Given the description of an element on the screen output the (x, y) to click on. 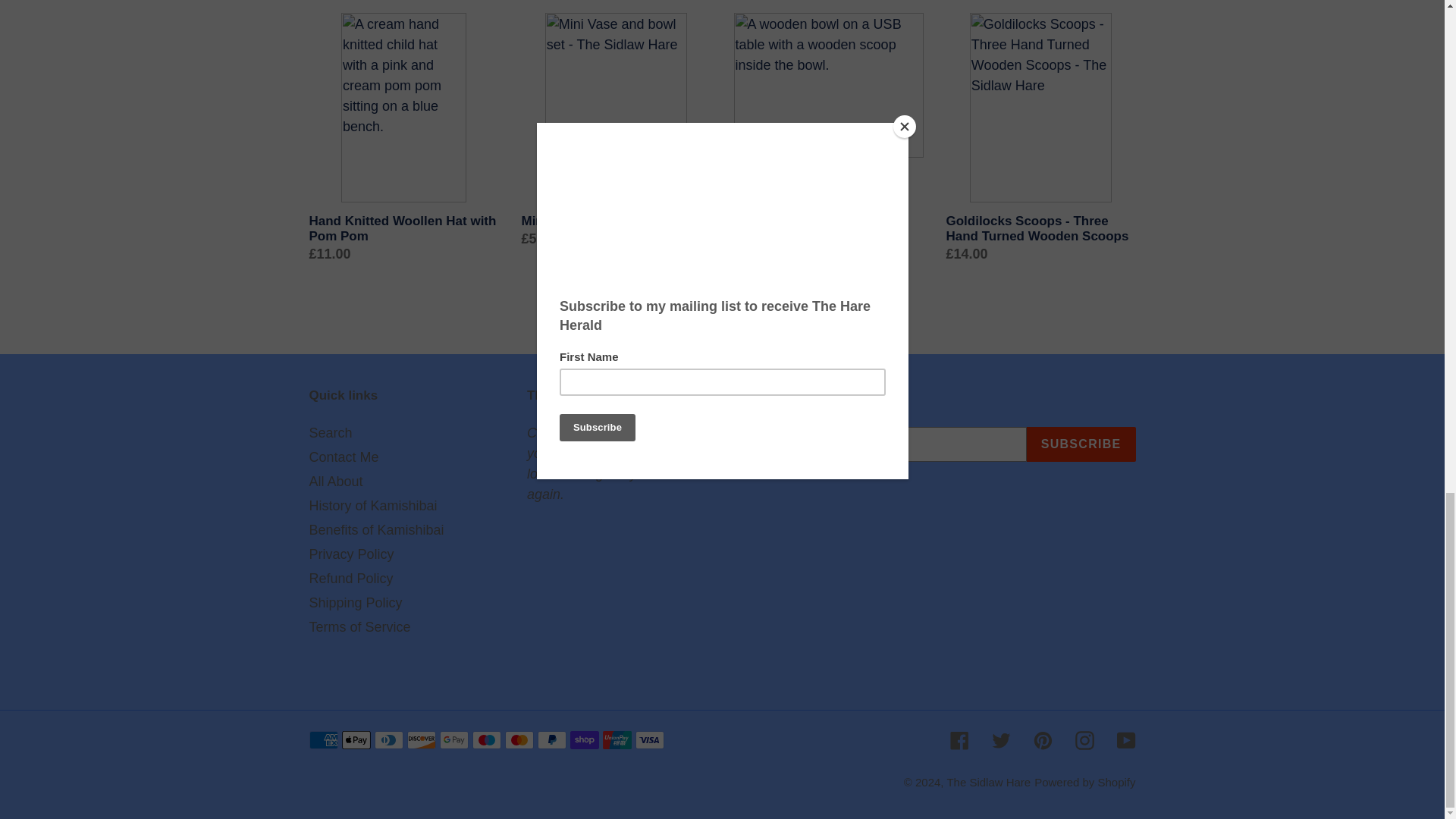
Privacy Policy (351, 554)
Contact Me (343, 457)
Benefits of Kamishibai (376, 529)
Search (330, 432)
All About (335, 481)
History of Kamishibai (373, 505)
